Given the description of an element on the screen output the (x, y) to click on. 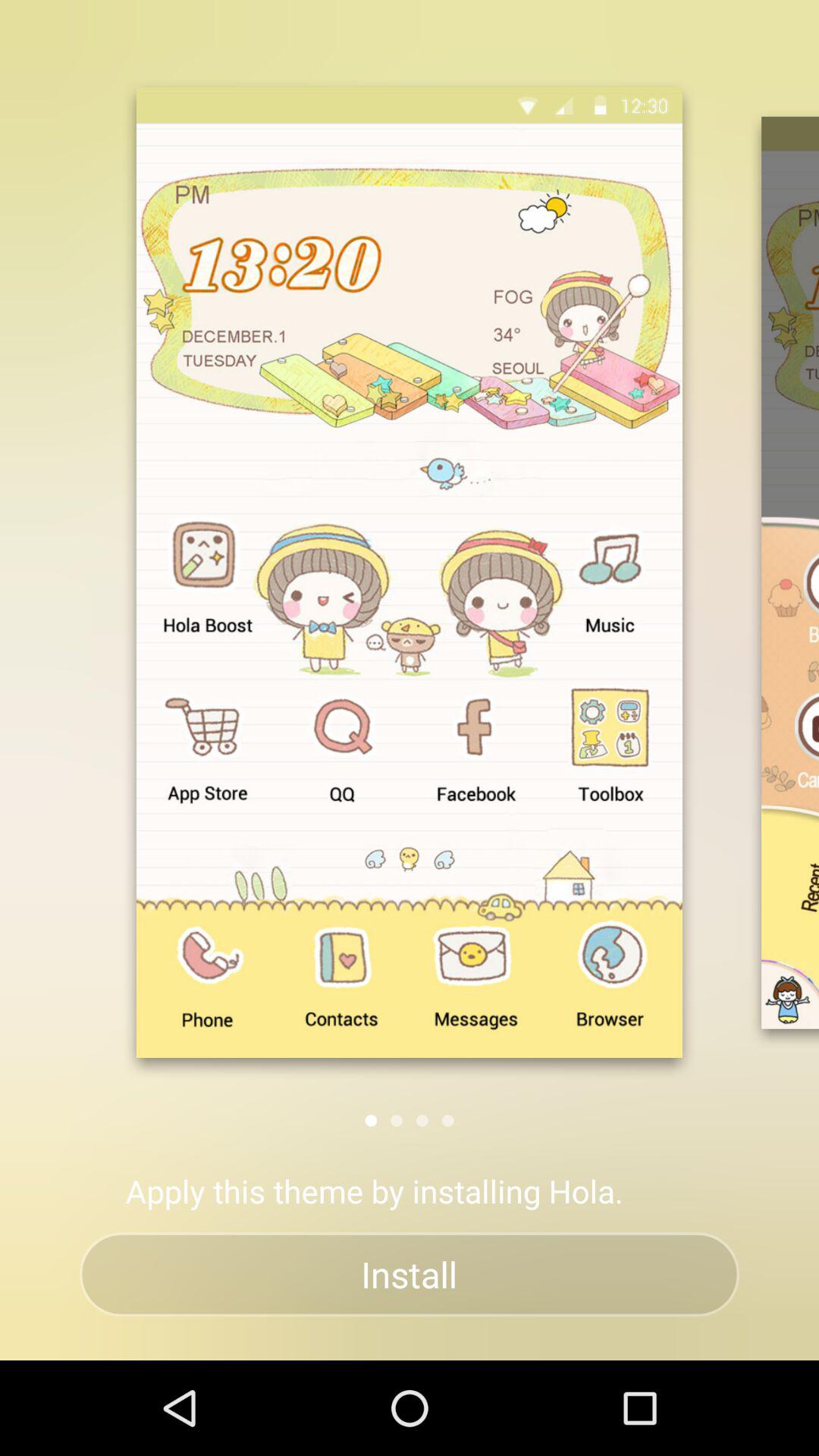
tap item above apply this theme icon (370, 1120)
